Given the description of an element on the screen output the (x, y) to click on. 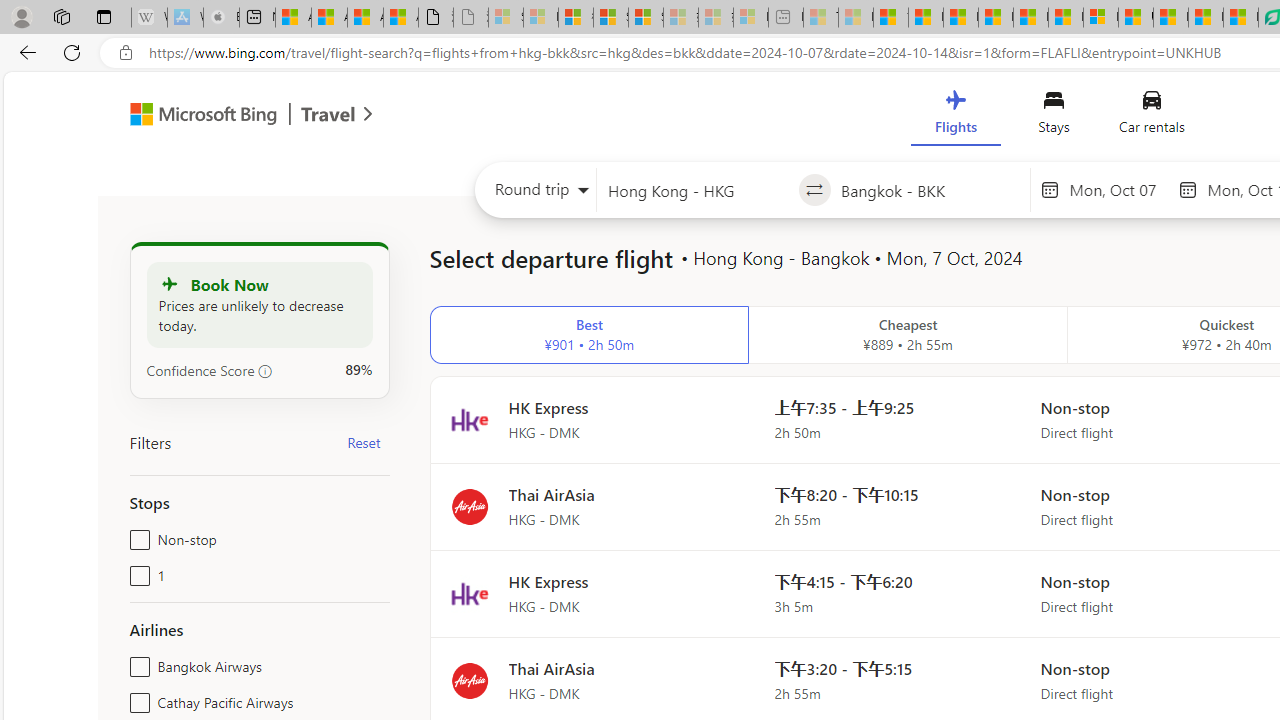
Info tooltip (265, 371)
Swap source and destination (813, 189)
Foo BAR | Trusted Community Engagement and Contributions (1065, 17)
Stays (1053, 116)
Reset (363, 442)
Select trip type (535, 193)
Microsoft Bing (194, 116)
Start Date (1118, 189)
Aberdeen, Hong Kong SAR weather forecast | Microsoft Weather (329, 17)
Class: autosuggest-container full-height no-y-padding (930, 190)
Going to? (930, 190)
